Given the description of an element on the screen output the (x, y) to click on. 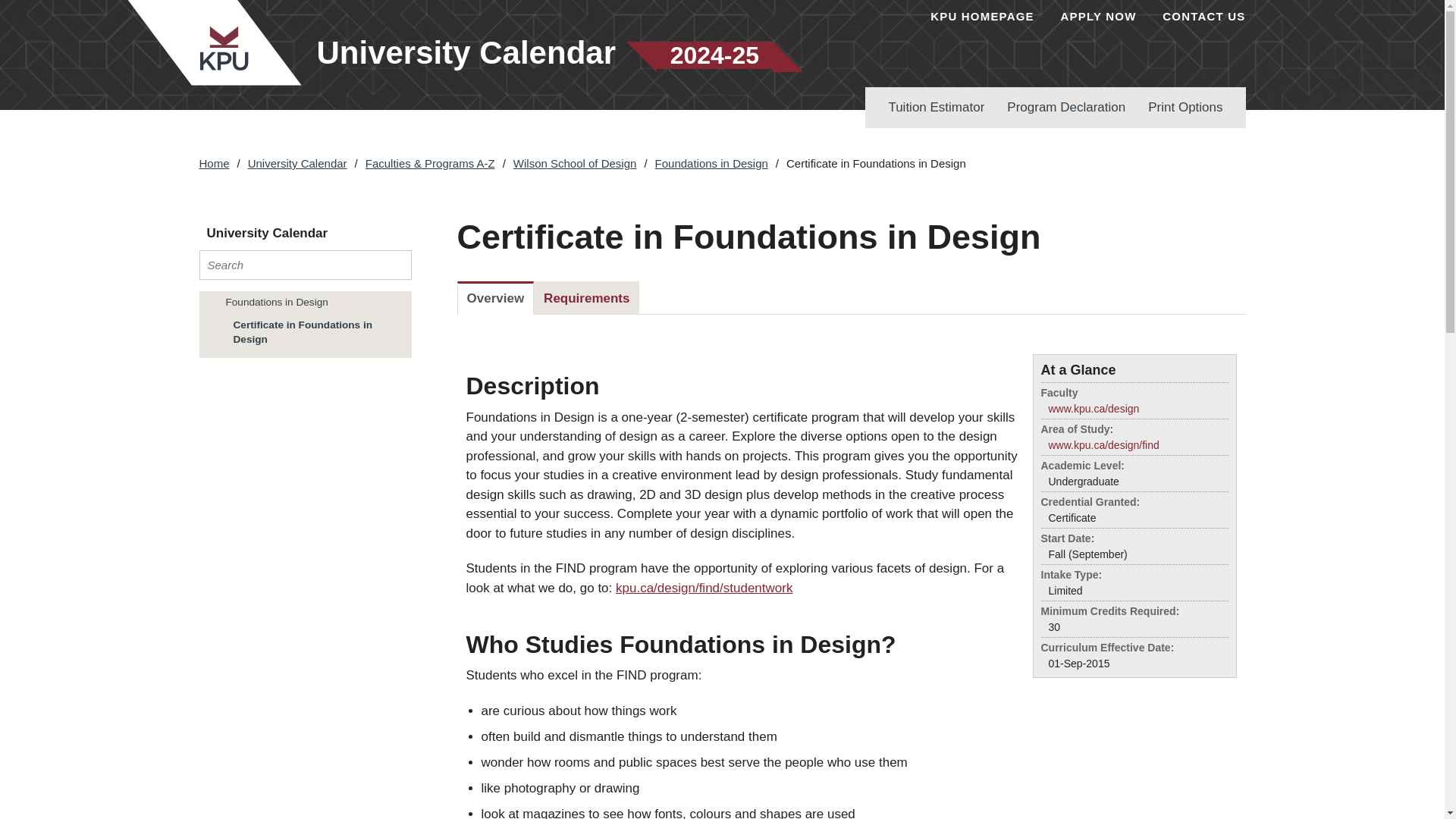
Home (213, 163)
Tuition Estimator (936, 106)
Submit search (395, 265)
CONTACT US (1202, 16)
Foundations in Design (711, 163)
KPU HOMEPAGE (981, 16)
APPLY NOW (1099, 16)
Foundations in Design (311, 301)
Program Declaration (1066, 106)
Certificate in Foundations in Design (315, 332)
Wilson School of Design (575, 163)
Print Options (1185, 106)
University Calendar (297, 163)
